Given the description of an element on the screen output the (x, y) to click on. 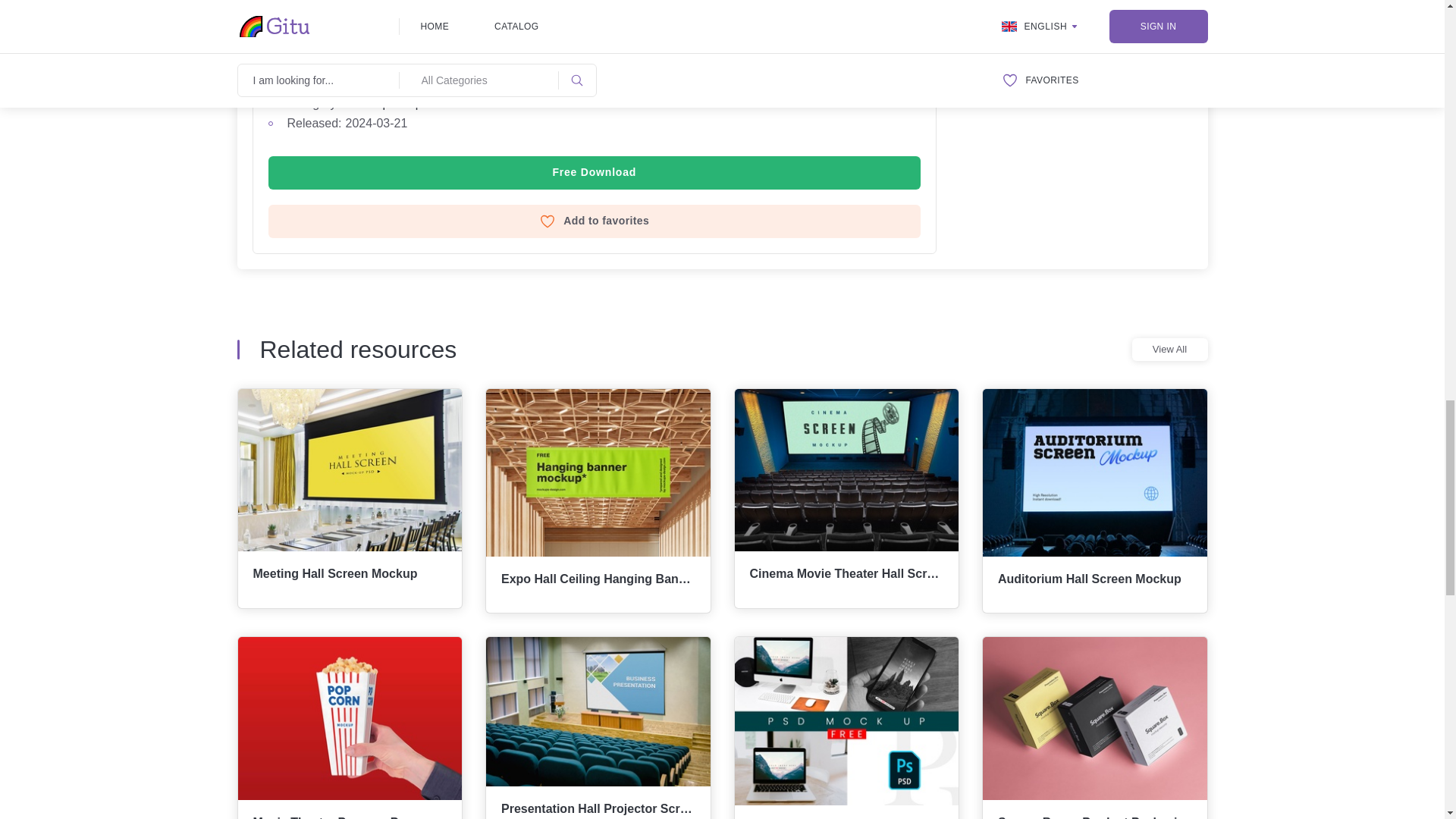
Add to favorites (594, 221)
Mockup Templates (396, 103)
Hall Mockup (287, 45)
Free Download (594, 172)
